Given the description of an element on the screen output the (x, y) to click on. 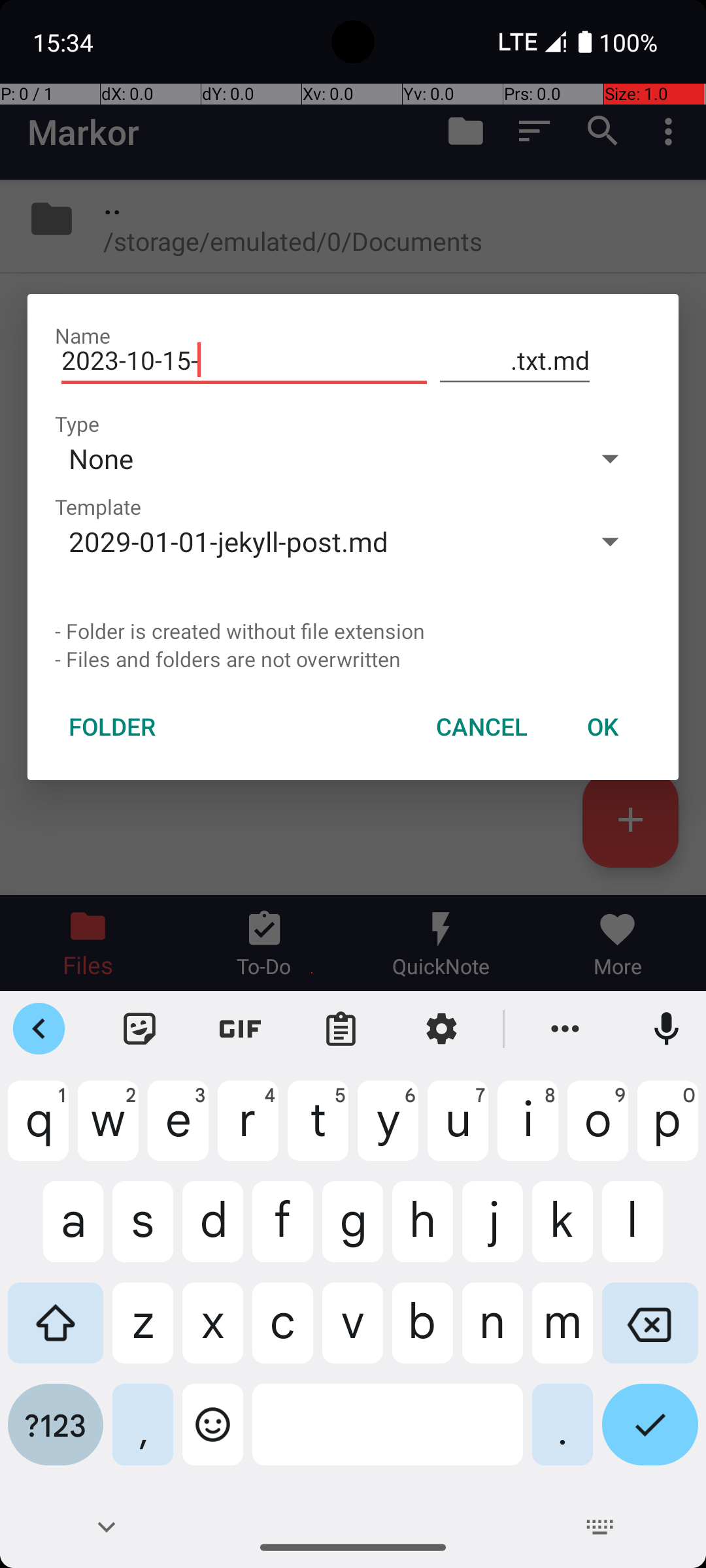
2023-10-15- Element type: android.widget.EditText (243, 360)
.txt.md Element type: android.widget.EditText (514, 360)
2029-01-01-jekyll-post.md Element type: android.widget.TextView (311, 540)
